Given the description of an element on the screen output the (x, y) to click on. 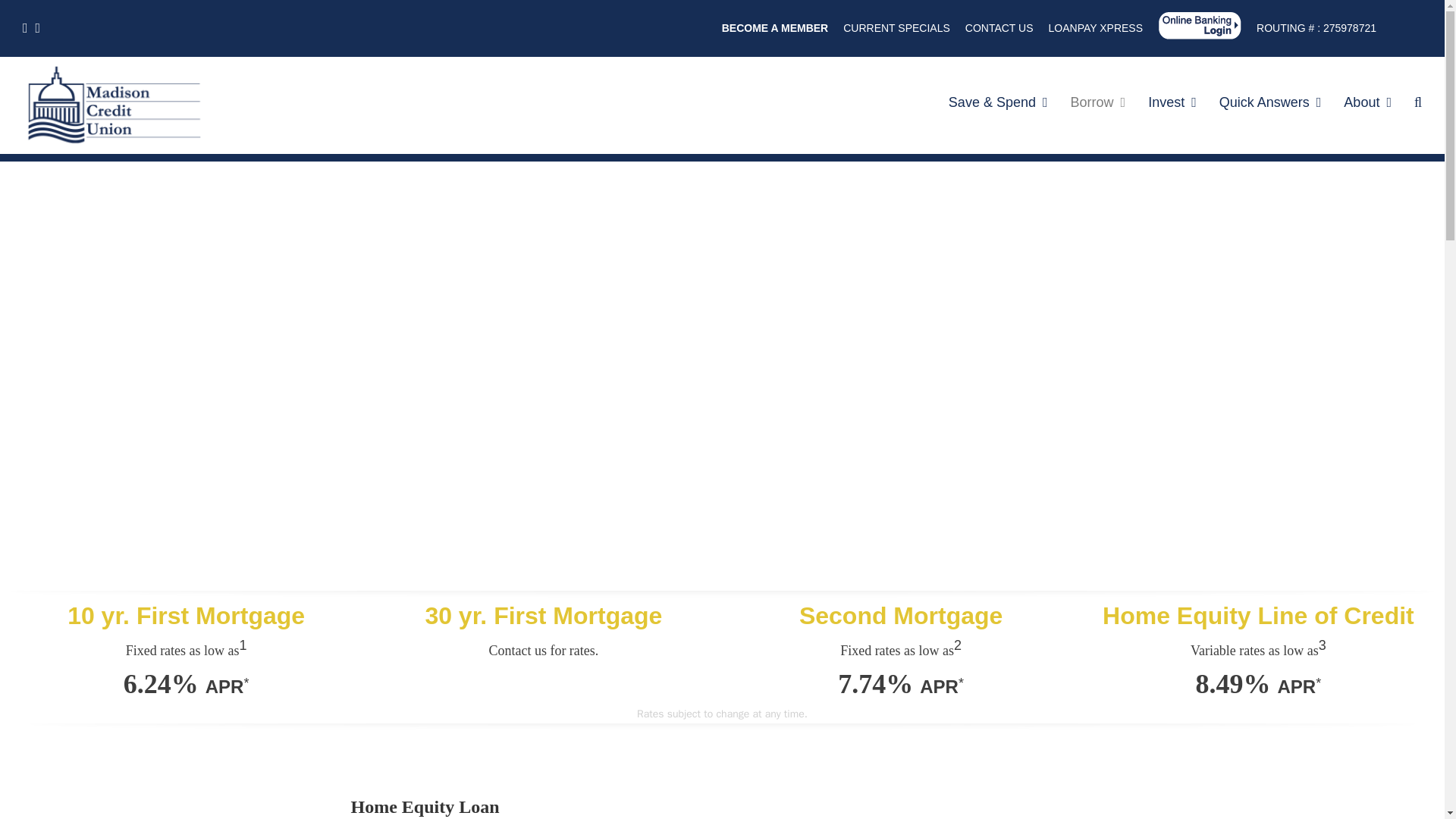
BECOME A MEMBER (775, 27)
Invest (1172, 103)
CONTACT US (999, 27)
Quick Answers (1270, 103)
CURRENT SPECIALS (896, 27)
LOANPAY XPRESS (1095, 27)
Borrow (1098, 103)
